Given the description of an element on the screen output the (x, y) to click on. 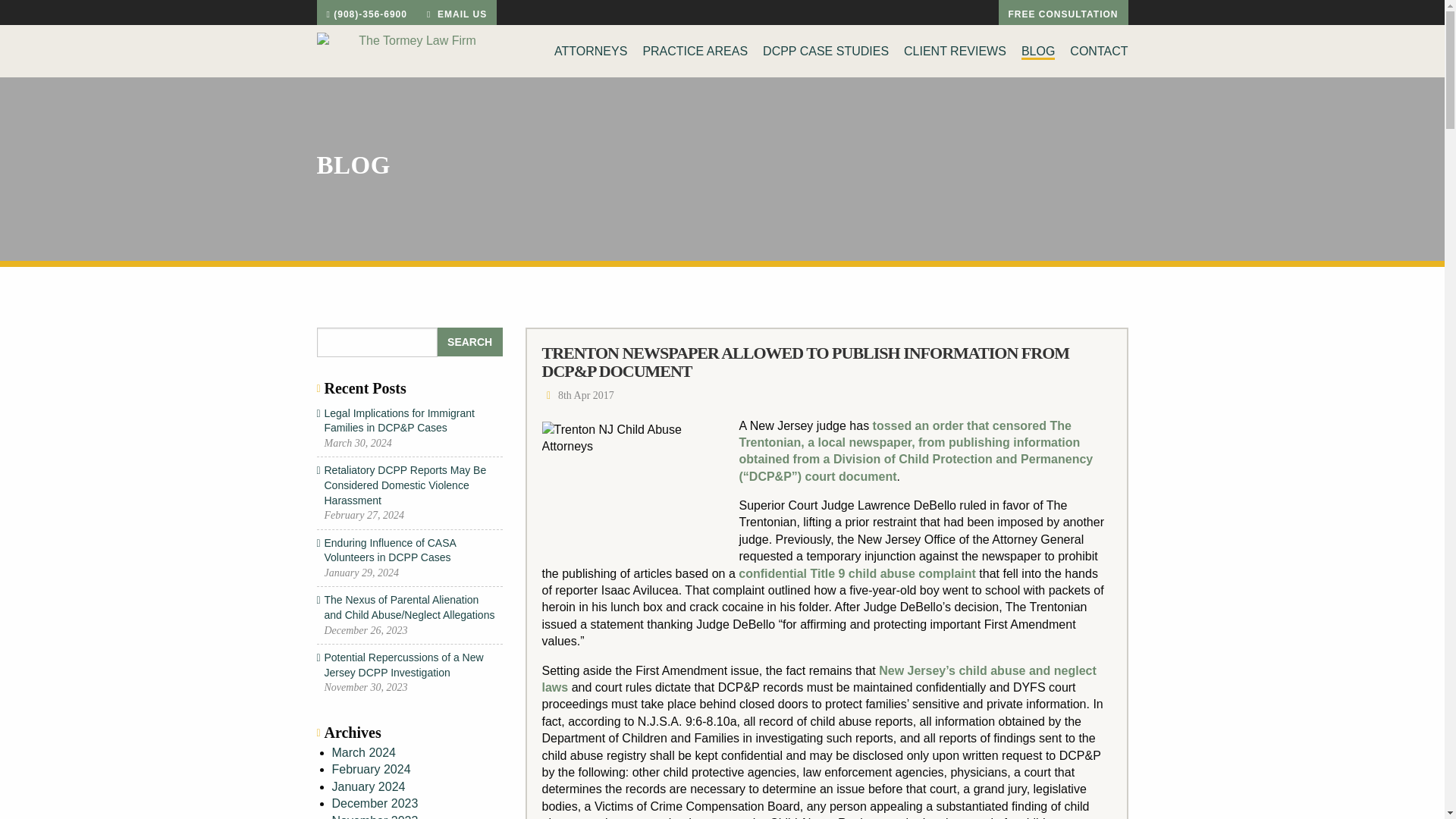
January 2024 (368, 786)
FREE CONSULTATION (1061, 12)
BLOG (1037, 48)
December 2023 (375, 802)
November 2023 (375, 816)
PRACTICE AREAS (694, 47)
CONTACT (1094, 47)
DCPP CASE STUDIES (825, 47)
Trenton NJ Child Abuse Attorneys (632, 483)
